Given the description of an element on the screen output the (x, y) to click on. 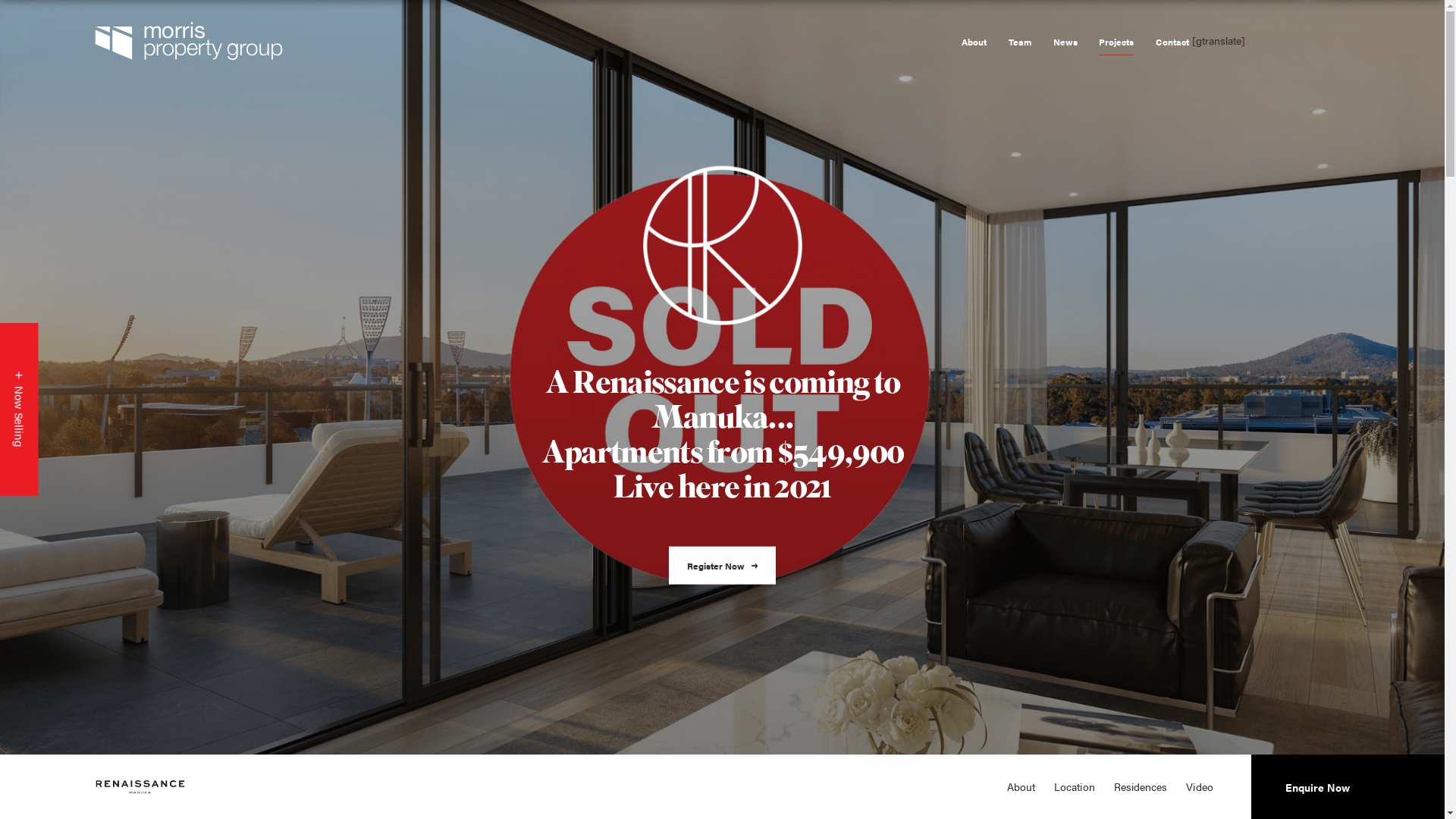
Now Selling Element type: text (86, 342)
Projects Element type: text (1115, 41)
Contact Element type: text (1172, 41)
Morris Property Group Element type: text (288, 40)
Home Element type: text (139, 786)
News Element type: text (1065, 41)
About Element type: text (973, 41)
Team Element type: text (1019, 41)
Location Element type: text (1074, 786)
Enquire Now Element type: text (1317, 786)
Register Now Element type: text (722, 565)
Video Element type: text (1199, 786)
About Element type: text (1021, 786)
Residences Element type: text (1140, 786)
